Given the description of an element on the screen output the (x, y) to click on. 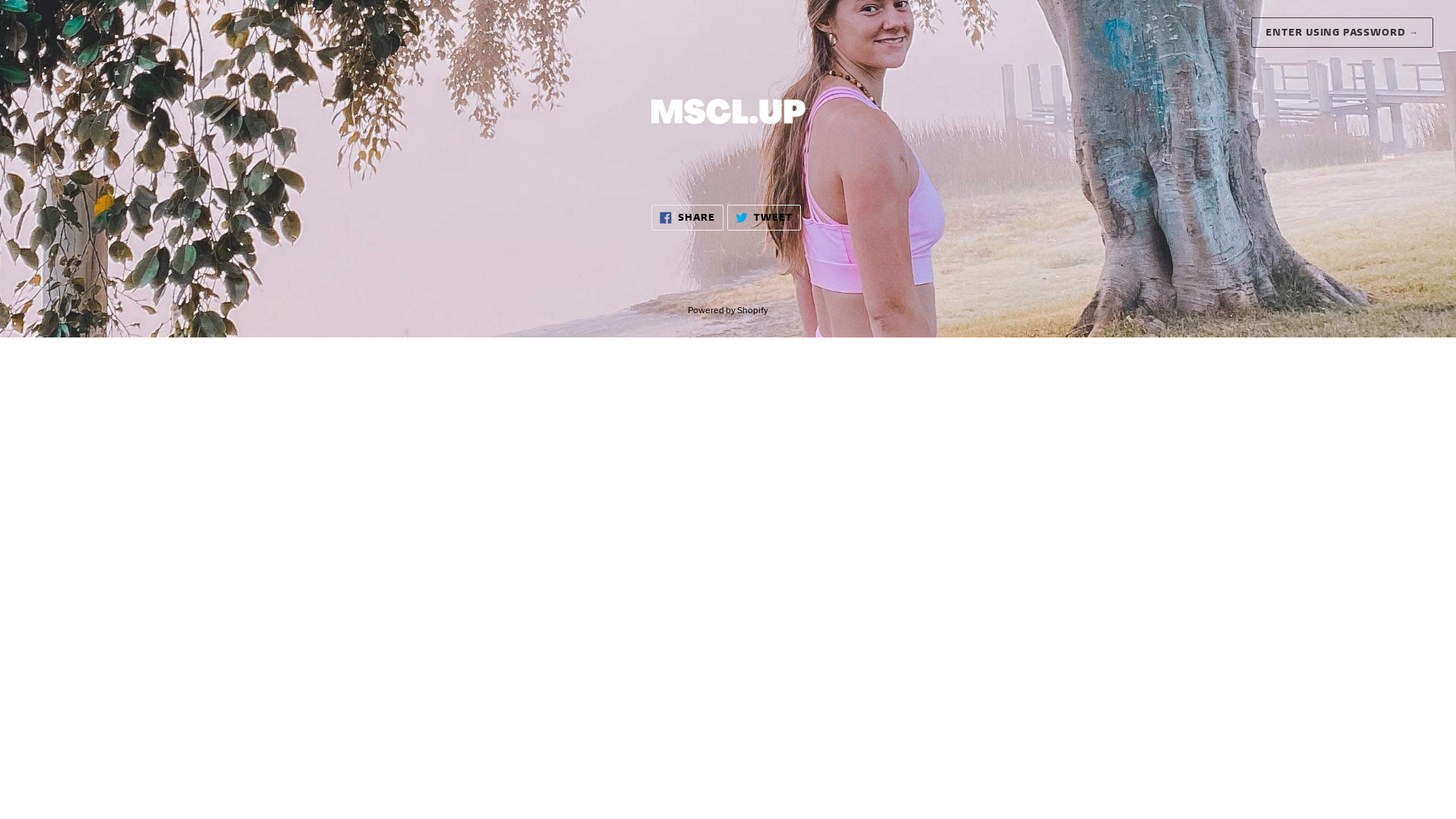
TWEET
TWEET ON TWITTER Element type: text (763, 217)
SHARE
SHARE ON FACEBOOK Element type: text (687, 217)
Powered by Shopify Element type: text (727, 309)
